Given the description of an element on the screen output the (x, y) to click on. 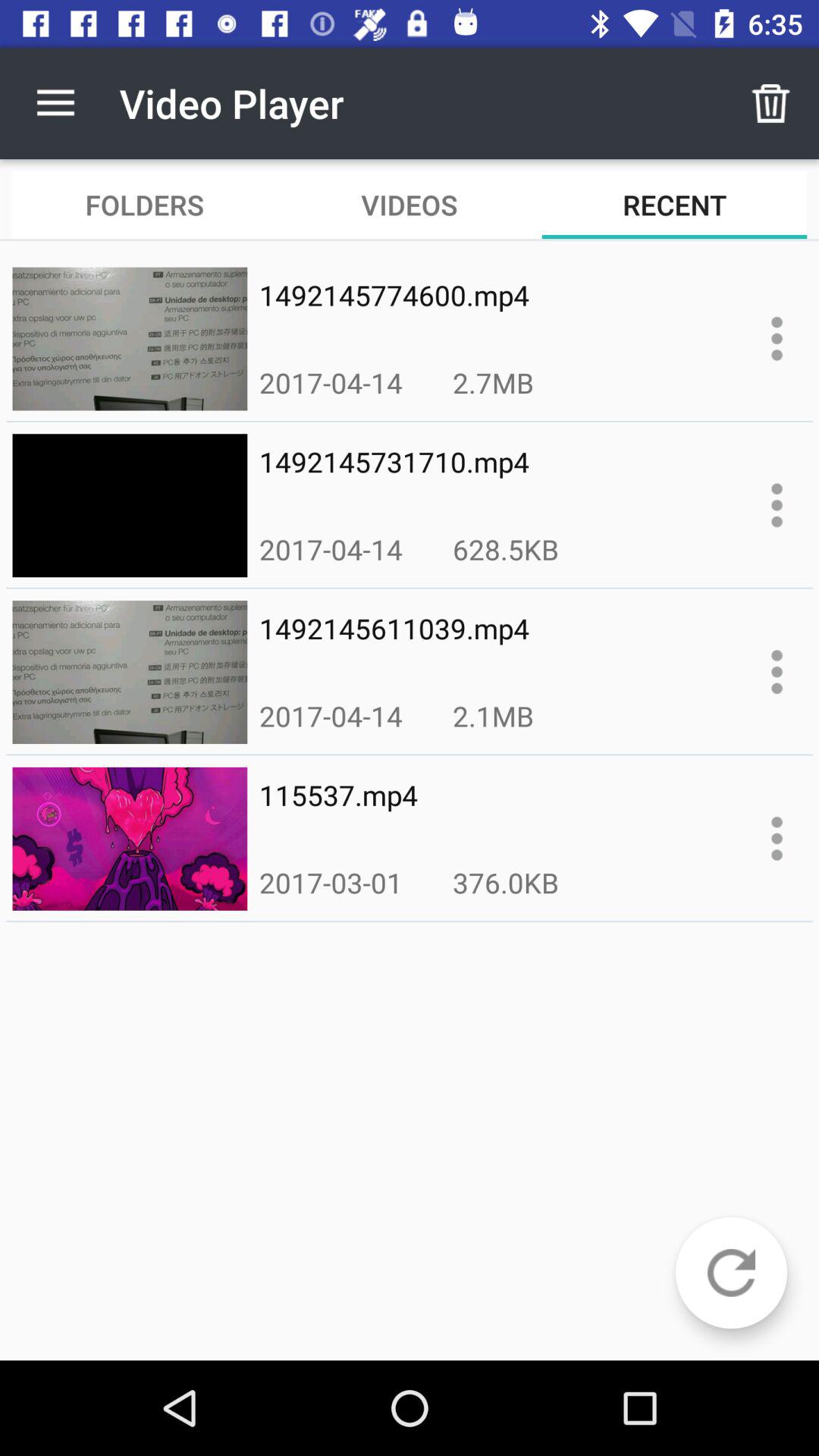
flip until 628.5kb icon (505, 549)
